Given the description of an element on the screen output the (x, y) to click on. 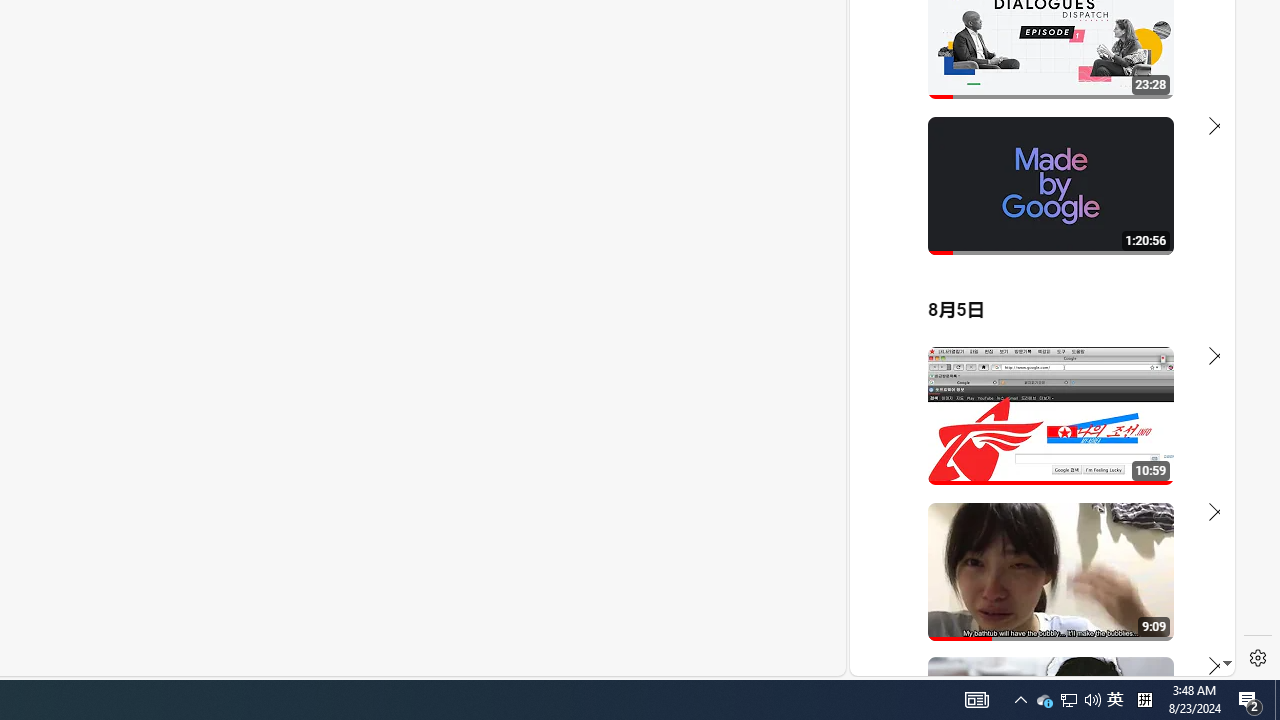
Class: dict_pnIcon rms_img (1028, 660)
you (1034, 609)
US[ju] (917, 660)
YouTube - YouTube (1034, 266)
